Given the description of an element on the screen output the (x, y) to click on. 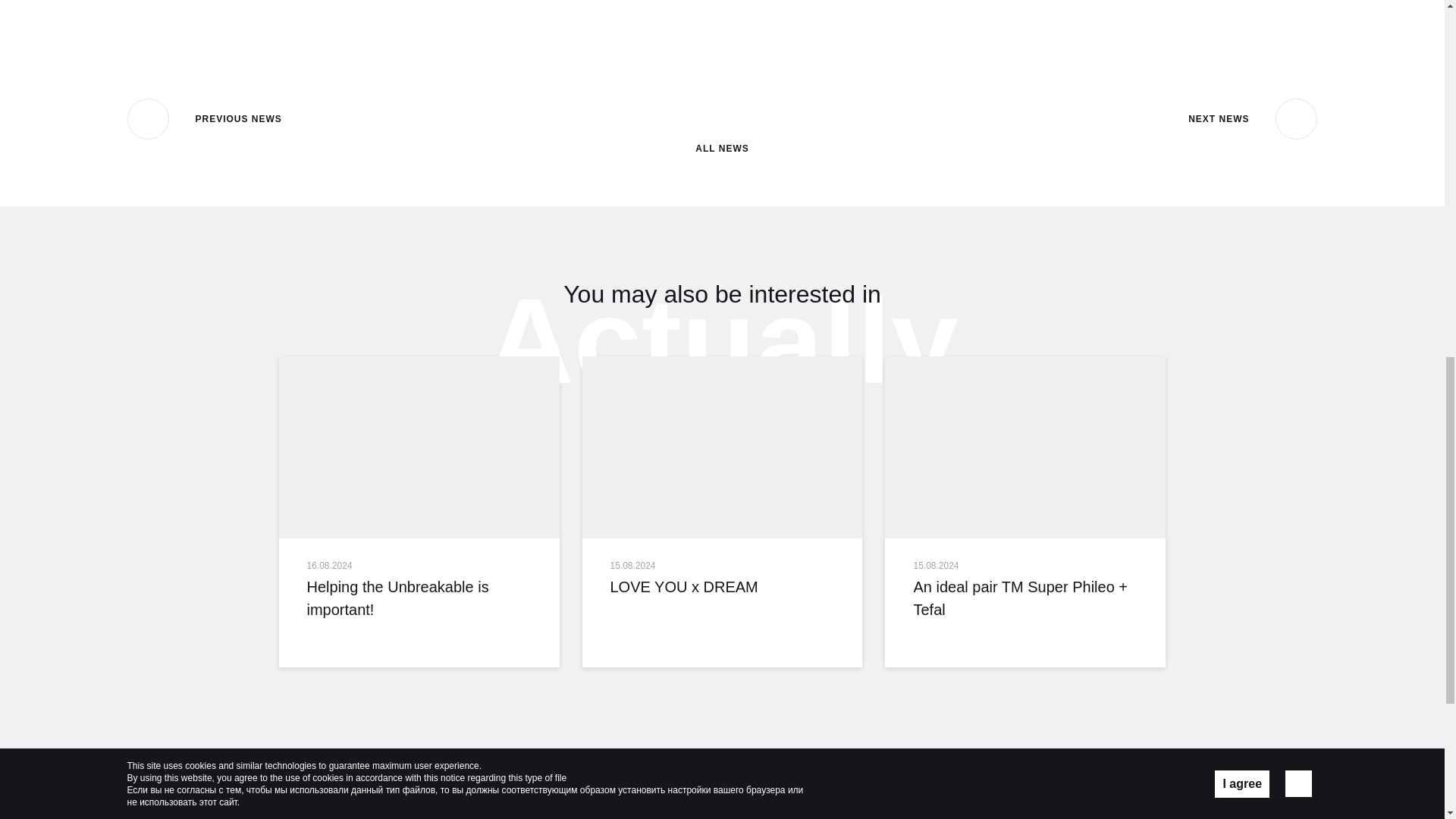
PREVIOUS NEWS (205, 118)
LOVE YOU x DREAM (722, 447)
NEXT NEWS (1252, 118)
Helping the Unbreakable is important! (419, 447)
LOVE YOU x DREAM (722, 586)
ALL NEWS (721, 125)
Helping the Unbreakable is important! (418, 597)
